Given the description of an element on the screen output the (x, y) to click on. 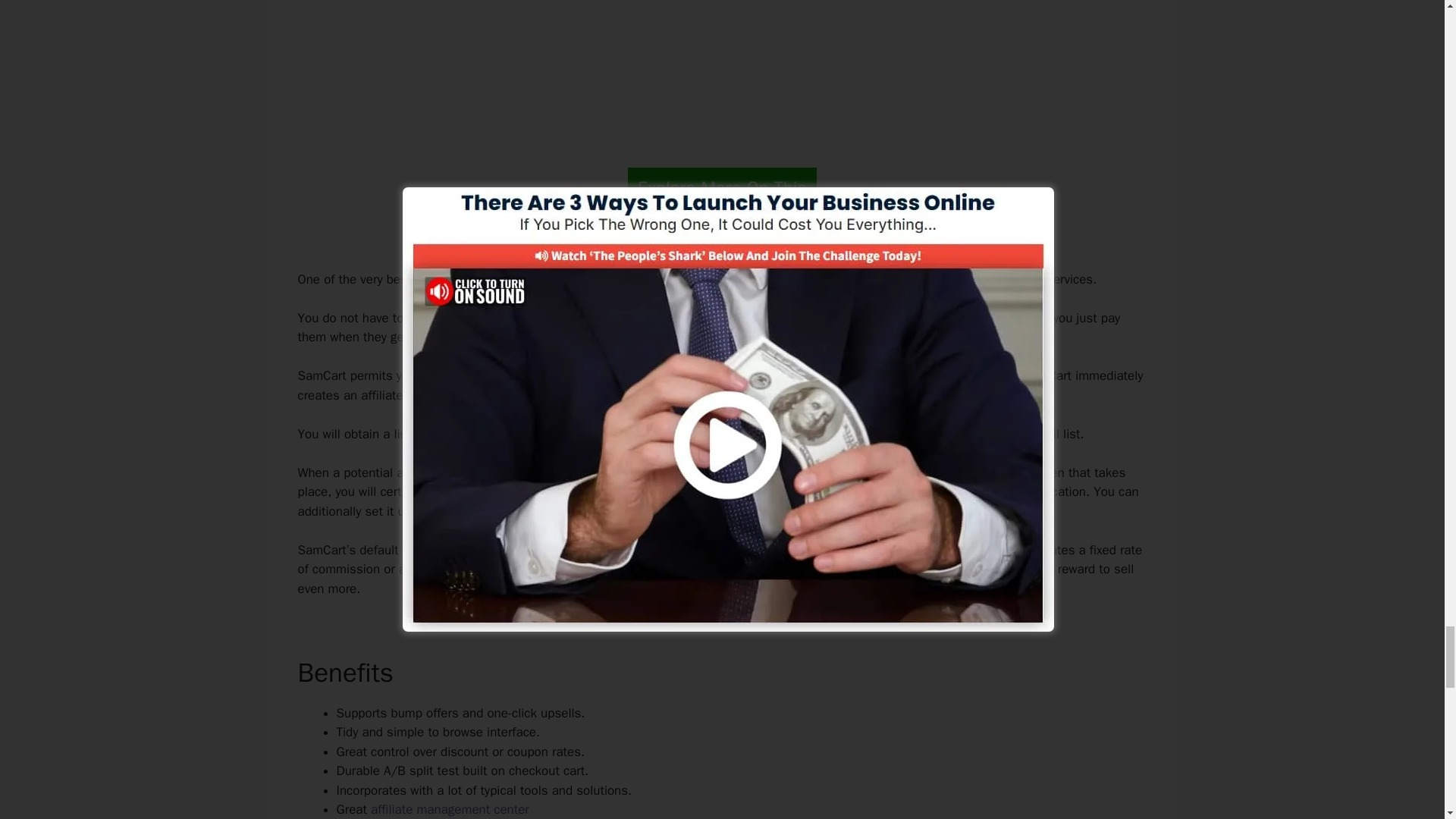
Explore More On This (721, 188)
affiliate center (974, 375)
affiliate management center (450, 809)
